Given the description of an element on the screen output the (x, y) to click on. 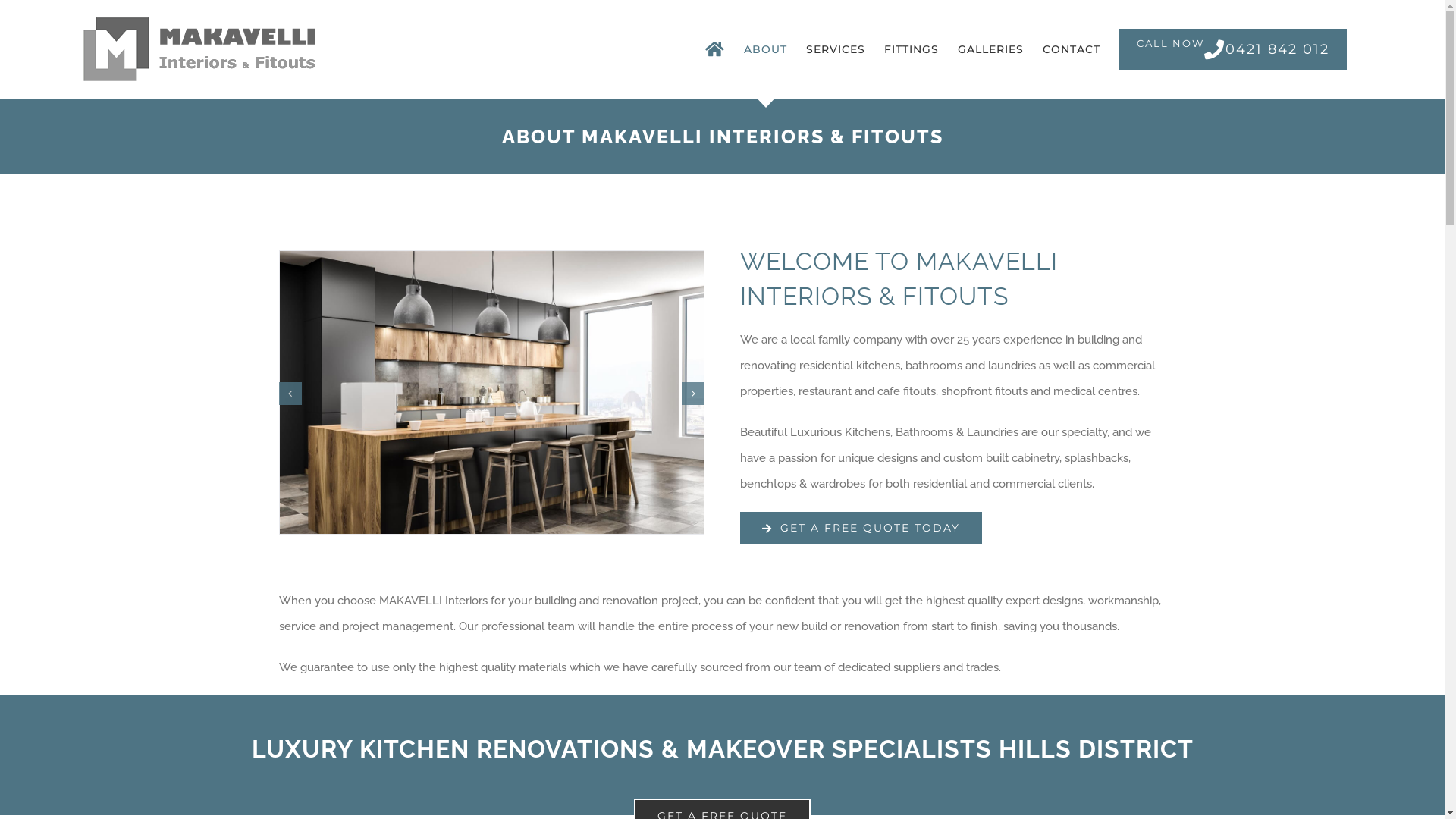
ABOUT Element type: text (765, 49)
CALL NOW

0421 842 012 Element type: text (1232, 49)
GALLERIES Element type: text (990, 49)
GET A FREE QUOTE TODAY Element type: text (861, 527)
CONTACT Element type: text (1071, 49)
SERVICES Element type: text (835, 49)
FITTINGS Element type: text (911, 49)
